Given the description of an element on the screen output the (x, y) to click on. 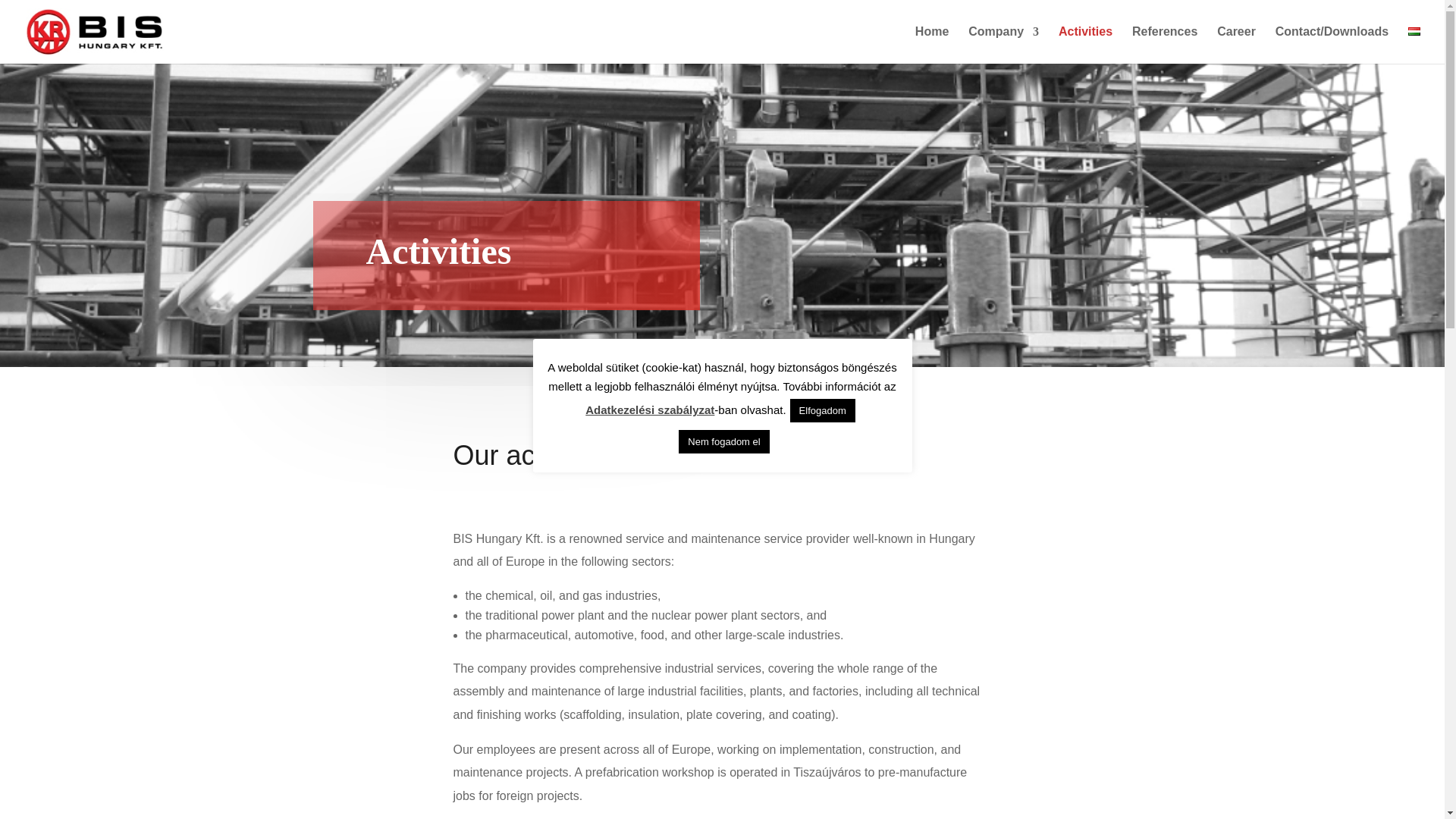
Company (1003, 44)
References (1164, 44)
Activities (1085, 44)
Home (932, 44)
Career (1236, 44)
